Given the description of an element on the screen output the (x, y) to click on. 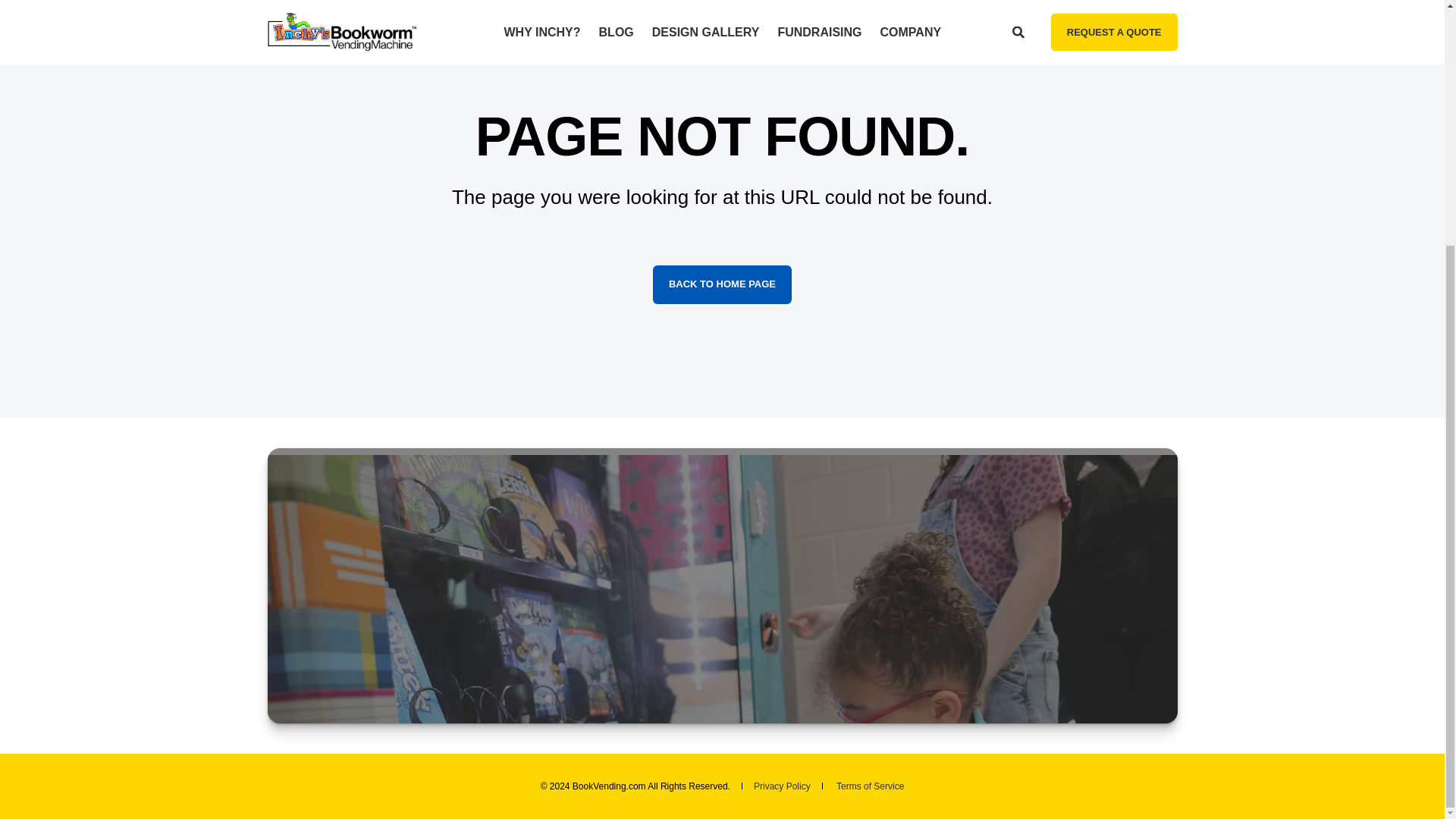
BACK TO HOME PAGE (722, 284)
Privacy Policy (782, 786)
Back to Home Page (722, 284)
Terms of Service (869, 786)
